Given the description of an element on the screen output the (x, y) to click on. 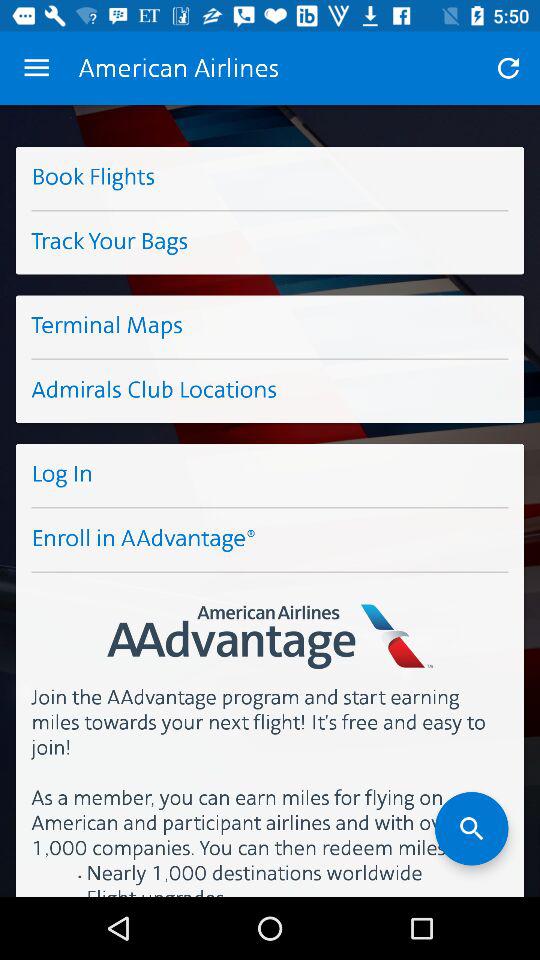
turn off the item above book flights item (36, 68)
